Given the description of an element on the screen output the (x, y) to click on. 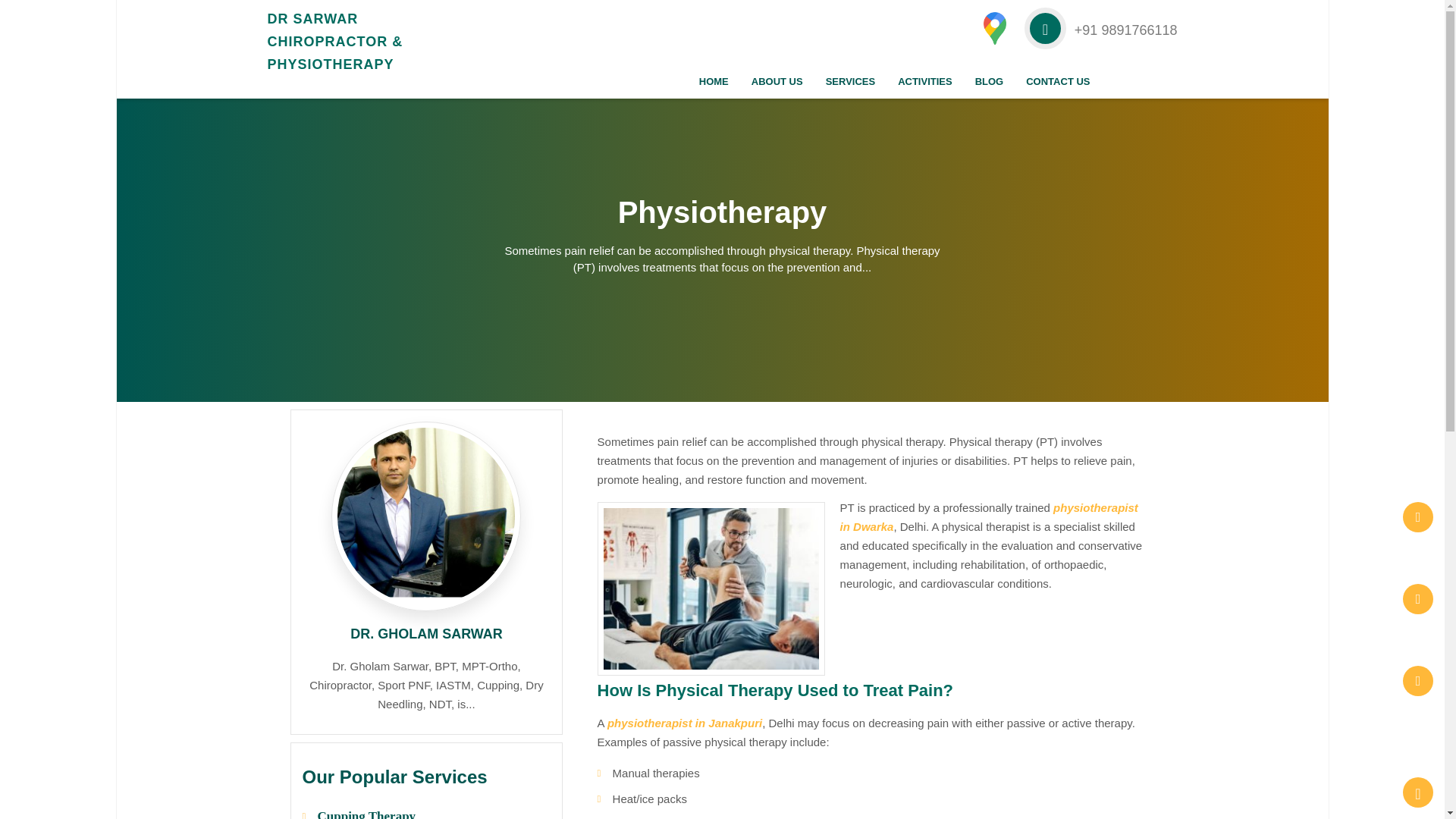
ABOUT US (776, 81)
DR. GHOLAM SARWAR (426, 633)
Cupping Therapy (365, 814)
ACTIVITIES (924, 81)
Dr Gholam Sarwar (336, 41)
CONTACT US (1057, 81)
physiotherapist in Janakpuri (684, 722)
Back To Top (1417, 792)
SERVICES (849, 81)
HOME (713, 81)
